Given the description of an element on the screen output the (x, y) to click on. 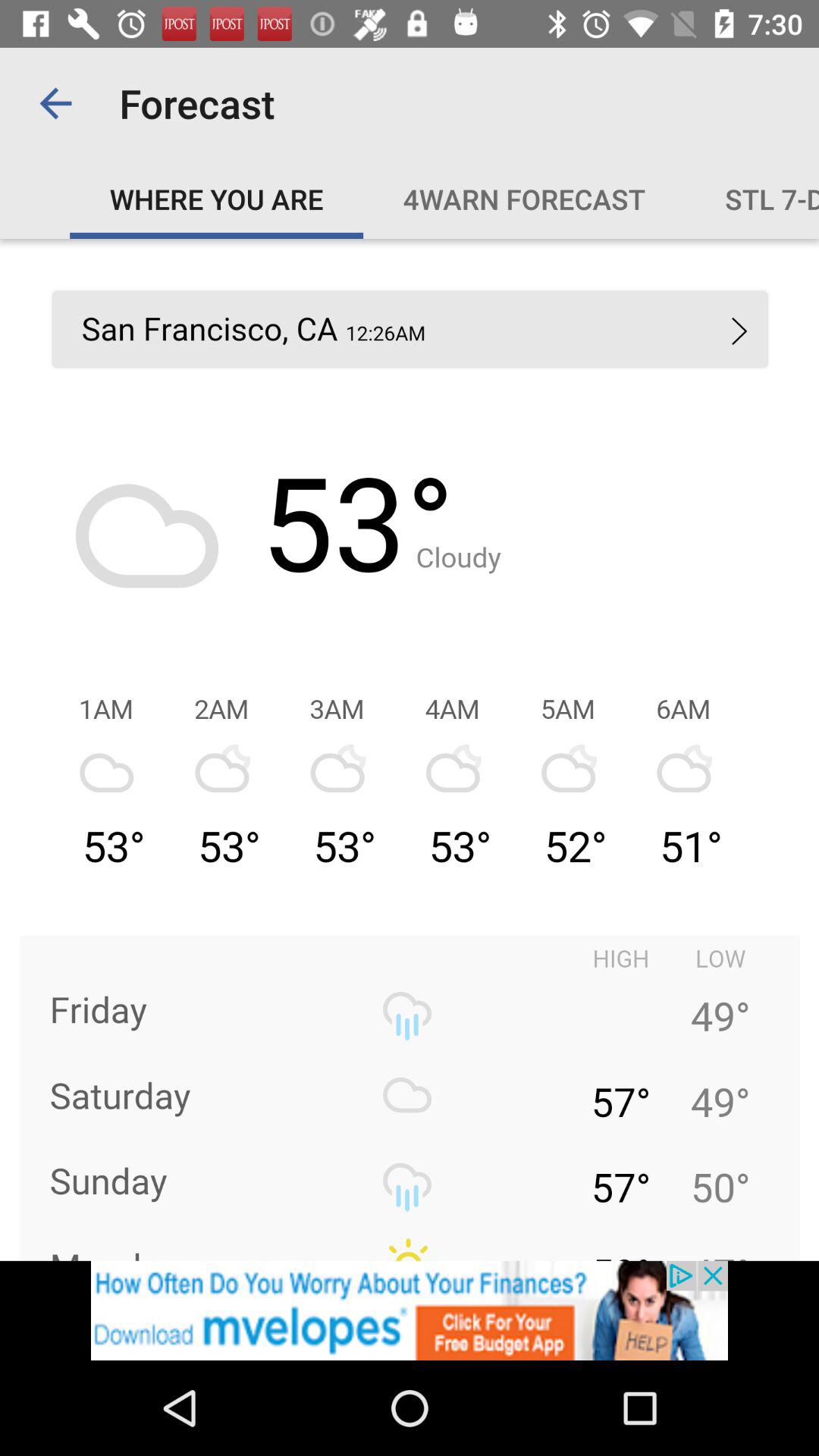
open the advertisement (409, 1310)
